Given the description of an element on the screen output the (x, y) to click on. 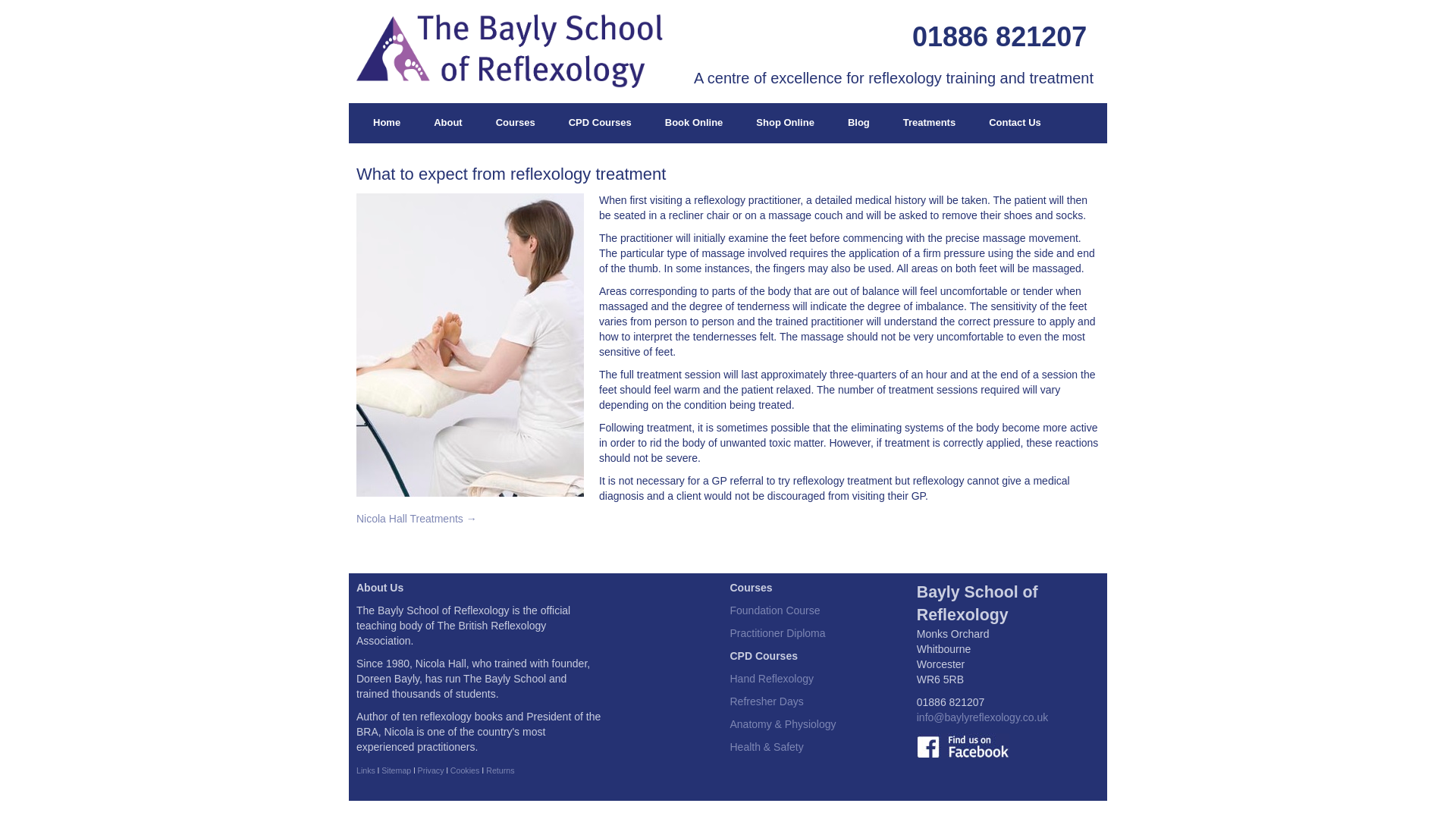
Book Online (693, 123)
Refresher Days (766, 701)
Links (365, 769)
Contact Us (1015, 123)
Returns (499, 769)
Privacy (430, 769)
Hand Reflexology (771, 678)
Home (386, 123)
Shop Online (785, 123)
Foundation Course (774, 610)
CPD Courses (599, 123)
Cookies (464, 769)
Sitemap (395, 769)
Courses (515, 123)
Practitioner Diploma (777, 633)
